Given the description of an element on the screen output the (x, y) to click on. 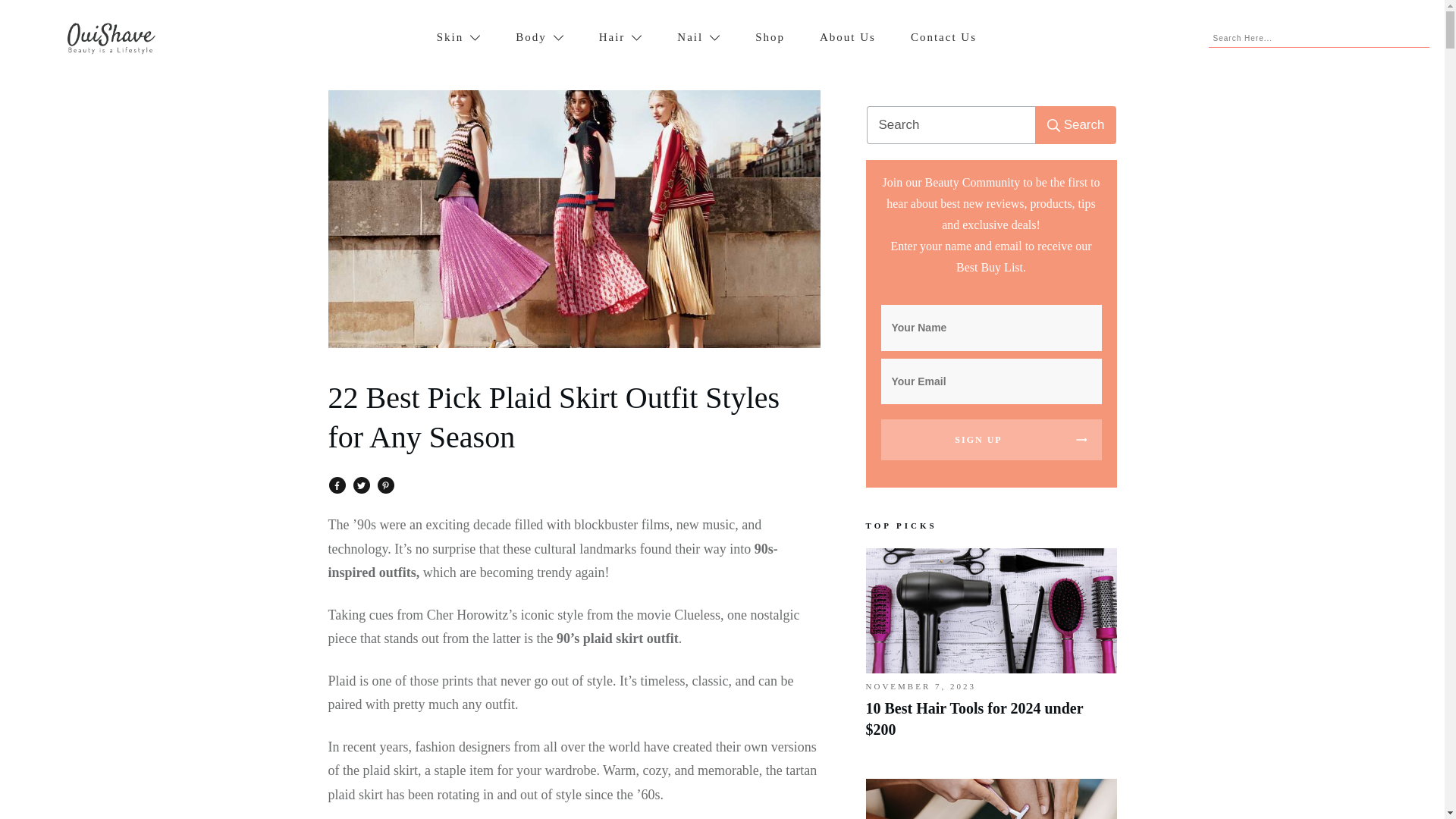
Skin (458, 37)
About Us (847, 37)
Hair (620, 37)
Shop (769, 37)
Nail (698, 37)
Body (539, 37)
